Given the description of an element on the screen output the (x, y) to click on. 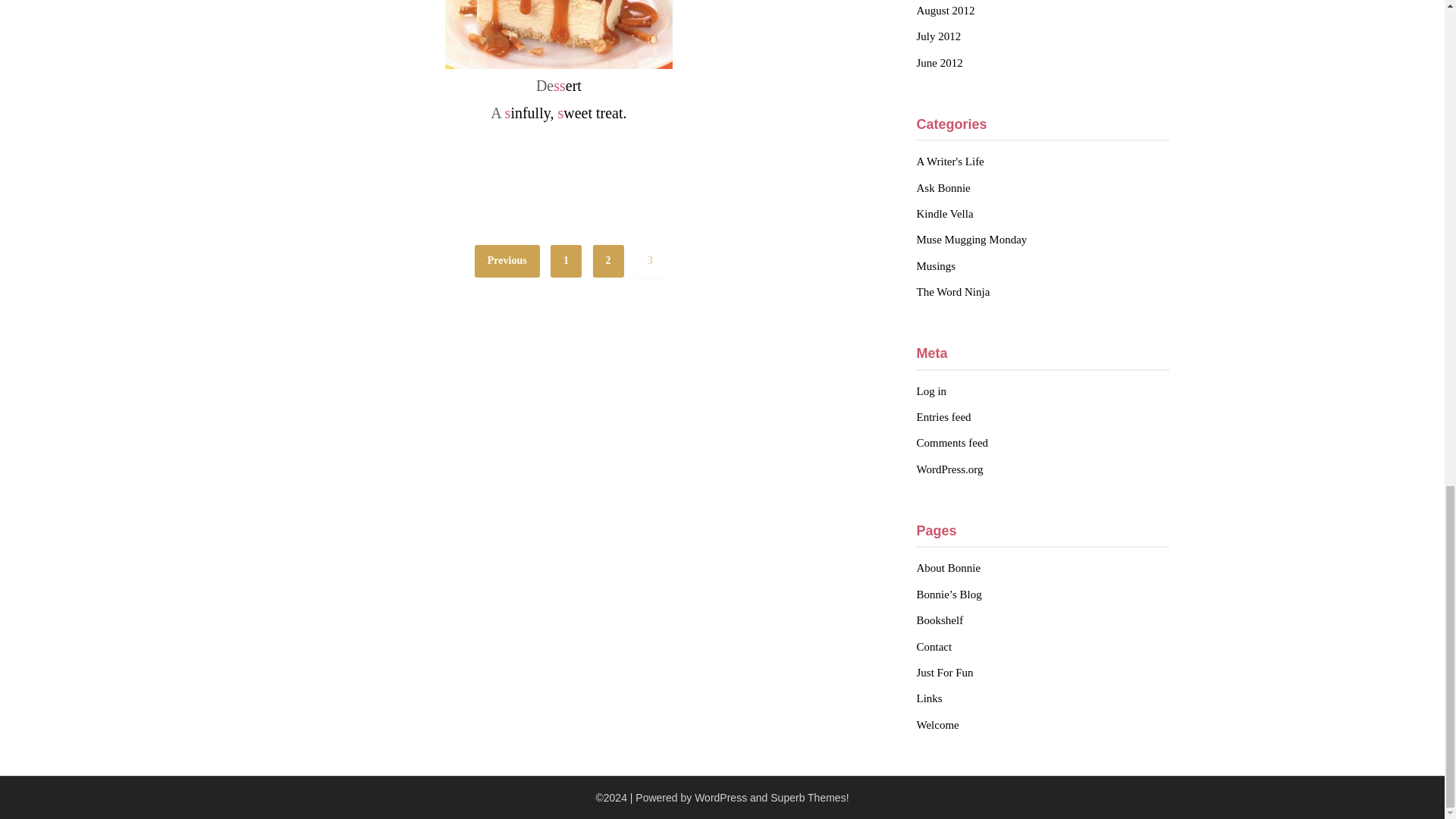
1 (565, 260)
Ask Bonnie (942, 187)
June 2012 (938, 62)
2 (608, 260)
Previous (507, 260)
A Writer's Life (949, 161)
July 2012 (937, 36)
August 2012 (944, 10)
